Given the description of an element on the screen output the (x, y) to click on. 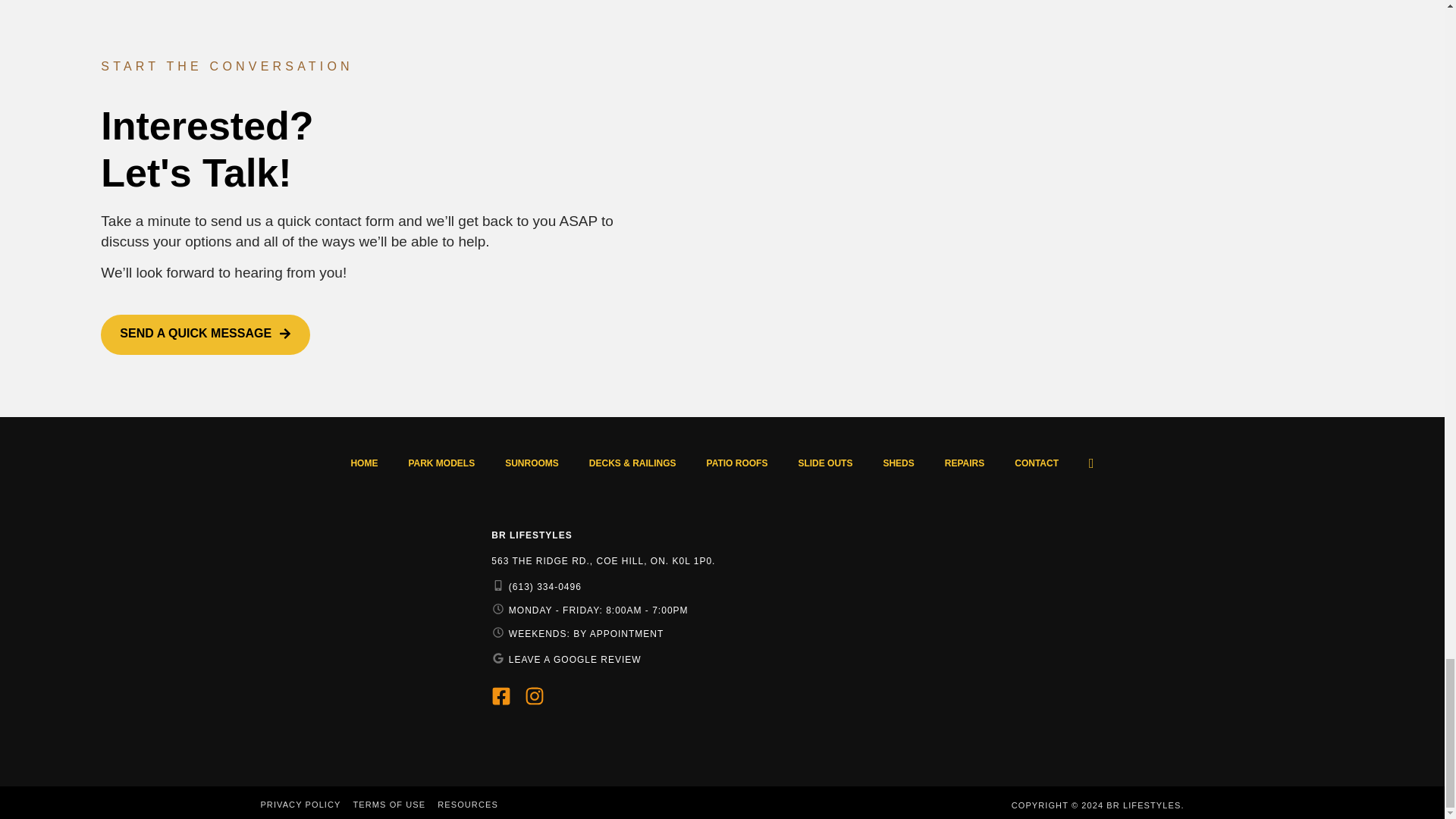
PARK MODELS (441, 462)
SUNROOMS (531, 462)
REPAIRS (964, 462)
SLIDE OUTS (825, 462)
SEND A QUICK MESSAGE (205, 334)
HOME (363, 462)
CONTACT (1036, 462)
SHEDS (897, 462)
PATIO ROOFS (737, 462)
